Given the description of an element on the screen output the (x, y) to click on. 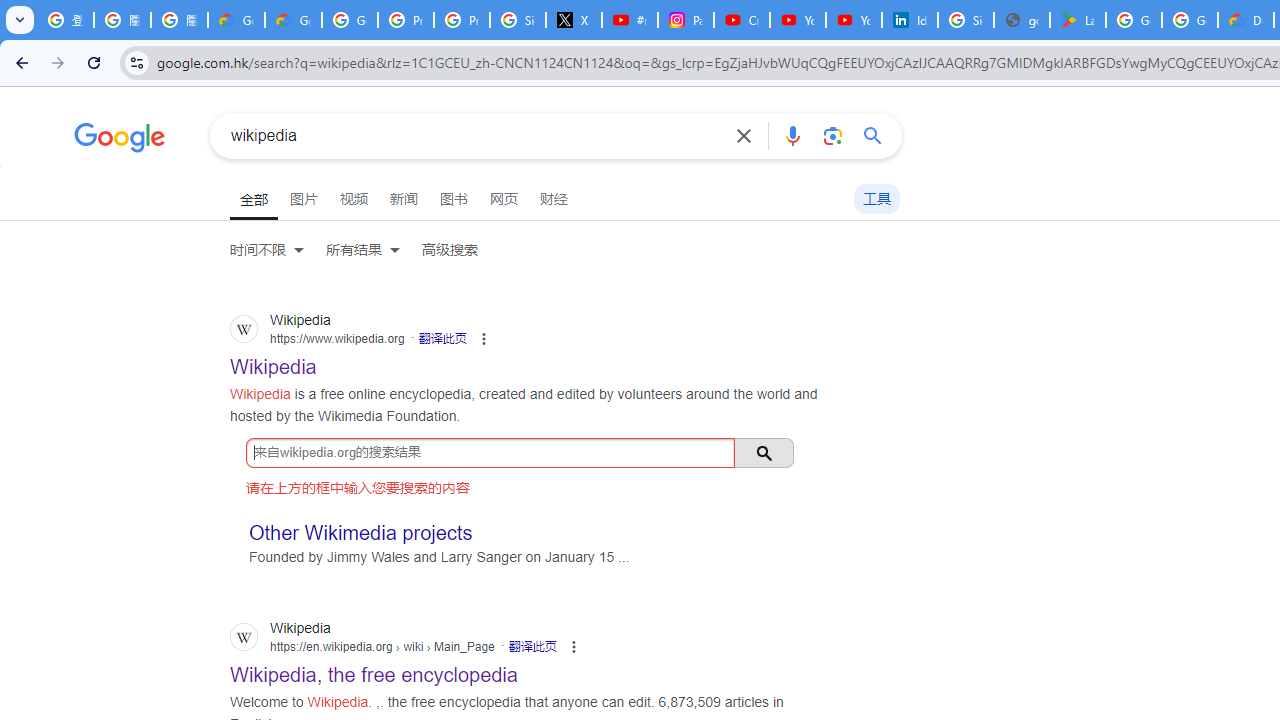
Last Shelter: Survival - Apps on Google Play (1077, 20)
 Wikipedia Wikipedia https://www.wikipedia.org (273, 361)
#nbabasketballhighlights - YouTube (629, 20)
Other Wikimedia projects (361, 532)
Sign in - Google Accounts (518, 20)
